Given the description of an element on the screen output the (x, y) to click on. 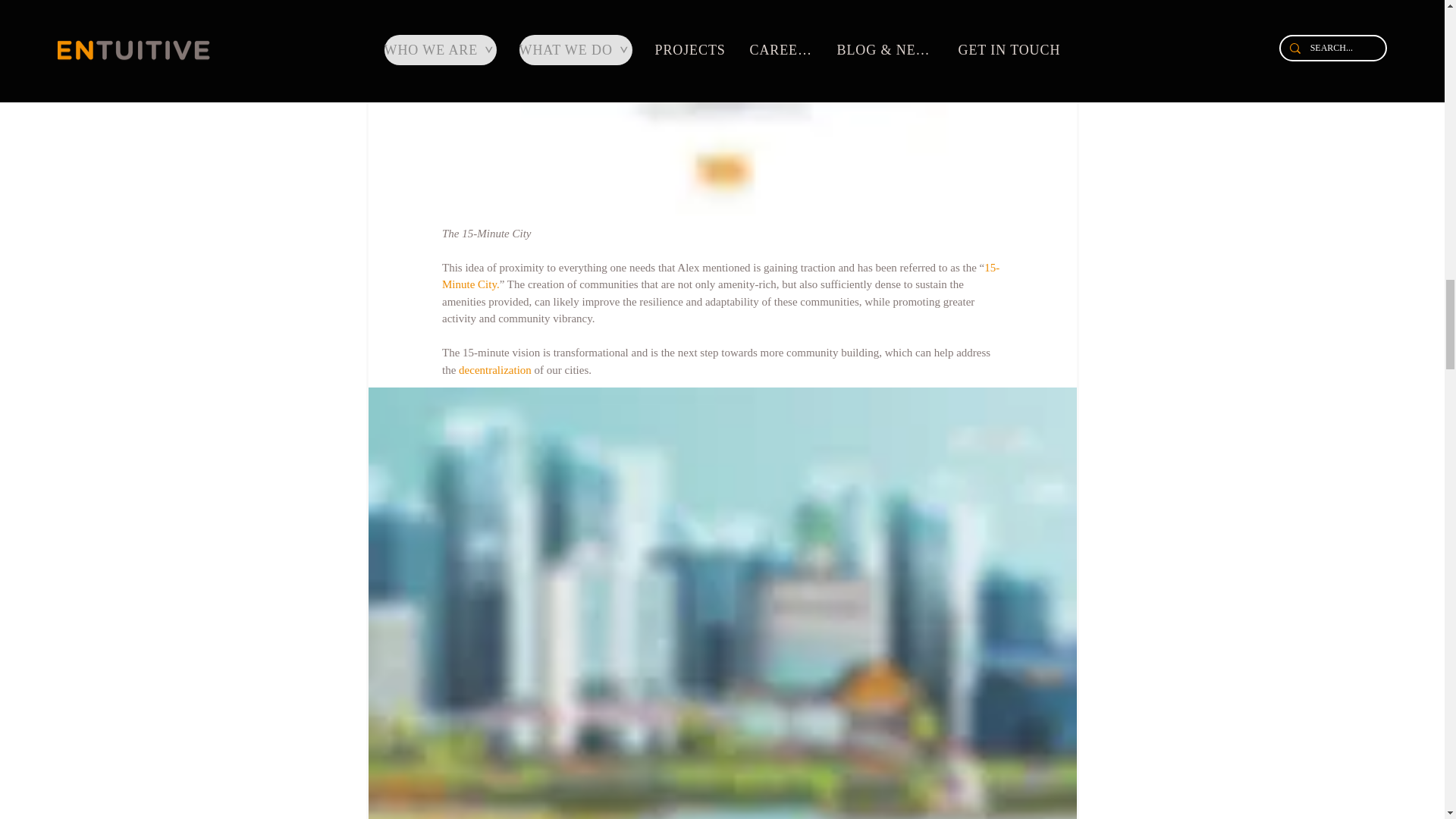
decentralization (494, 369)
15-Minute City. (719, 276)
